Given the description of an element on the screen output the (x, y) to click on. 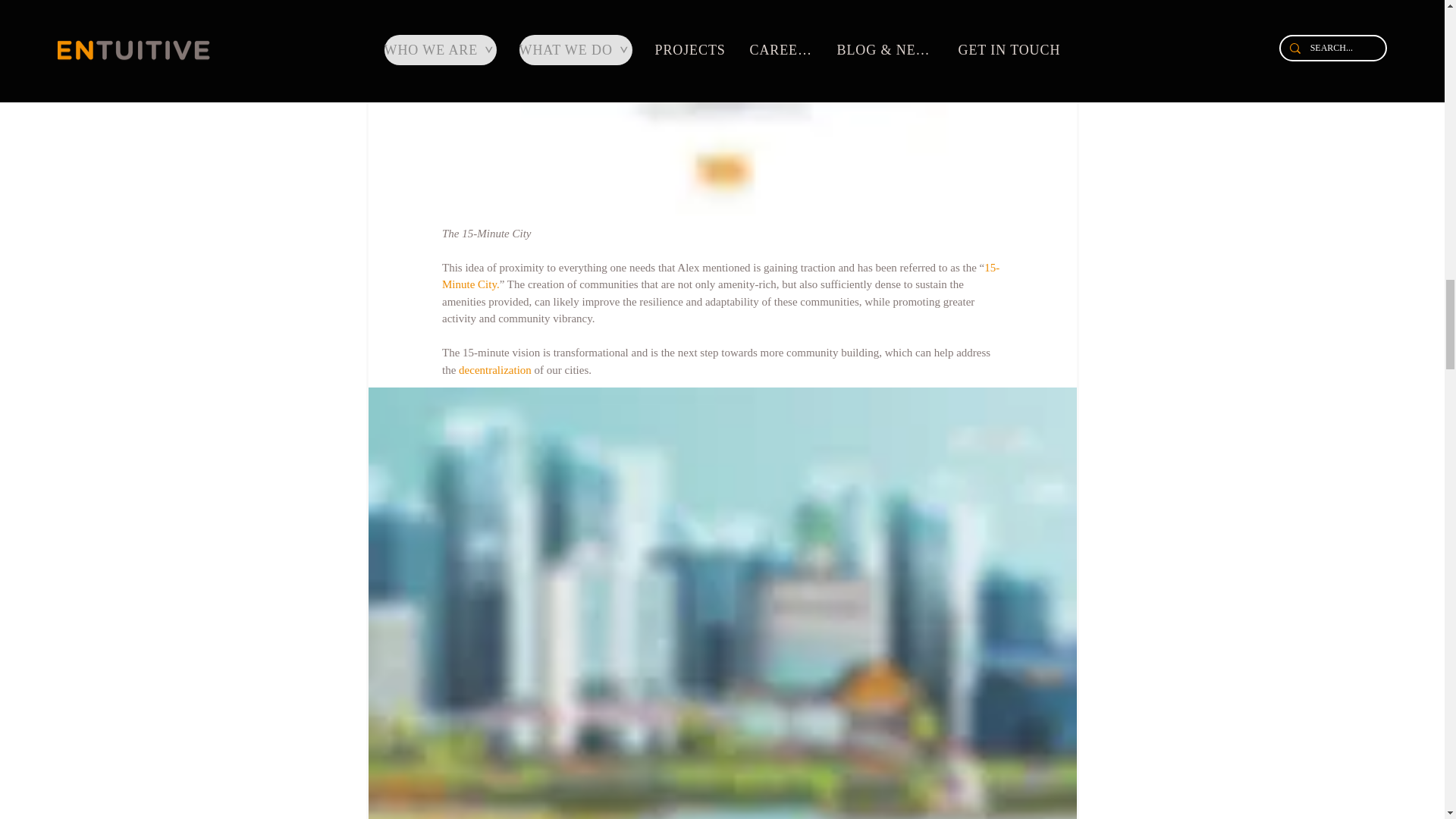
decentralization (494, 369)
15-Minute City. (719, 276)
